Given the description of an element on the screen output the (x, y) to click on. 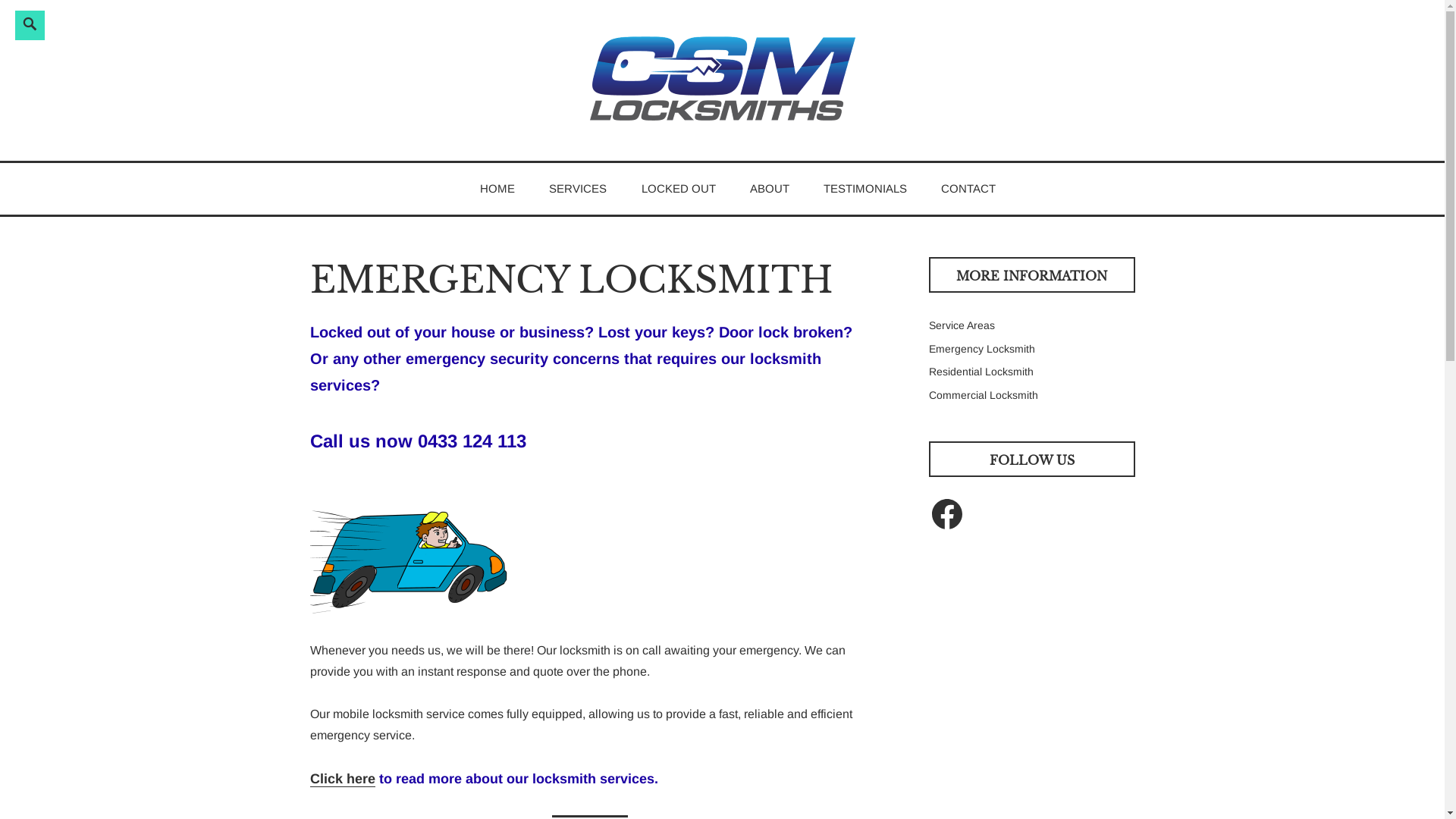
Search Element type: text (18, 9)
Click here Element type: text (341, 779)
Facebook Element type: text (946, 513)
ABOUT Element type: text (769, 188)
Commercial Locksmith Element type: text (982, 395)
CSM LOCKSMITHS Element type: text (497, 172)
Residential Locksmith Element type: text (980, 371)
LOCKED OUT Element type: text (678, 188)
TESTIMONIALS Element type: text (864, 188)
SERVICES Element type: text (577, 188)
HOME Element type: text (497, 188)
CONTACT Element type: text (968, 188)
Emergency Locksmith Element type: text (981, 348)
Service Areas Element type: text (961, 325)
